Given the description of an element on the screen output the (x, y) to click on. 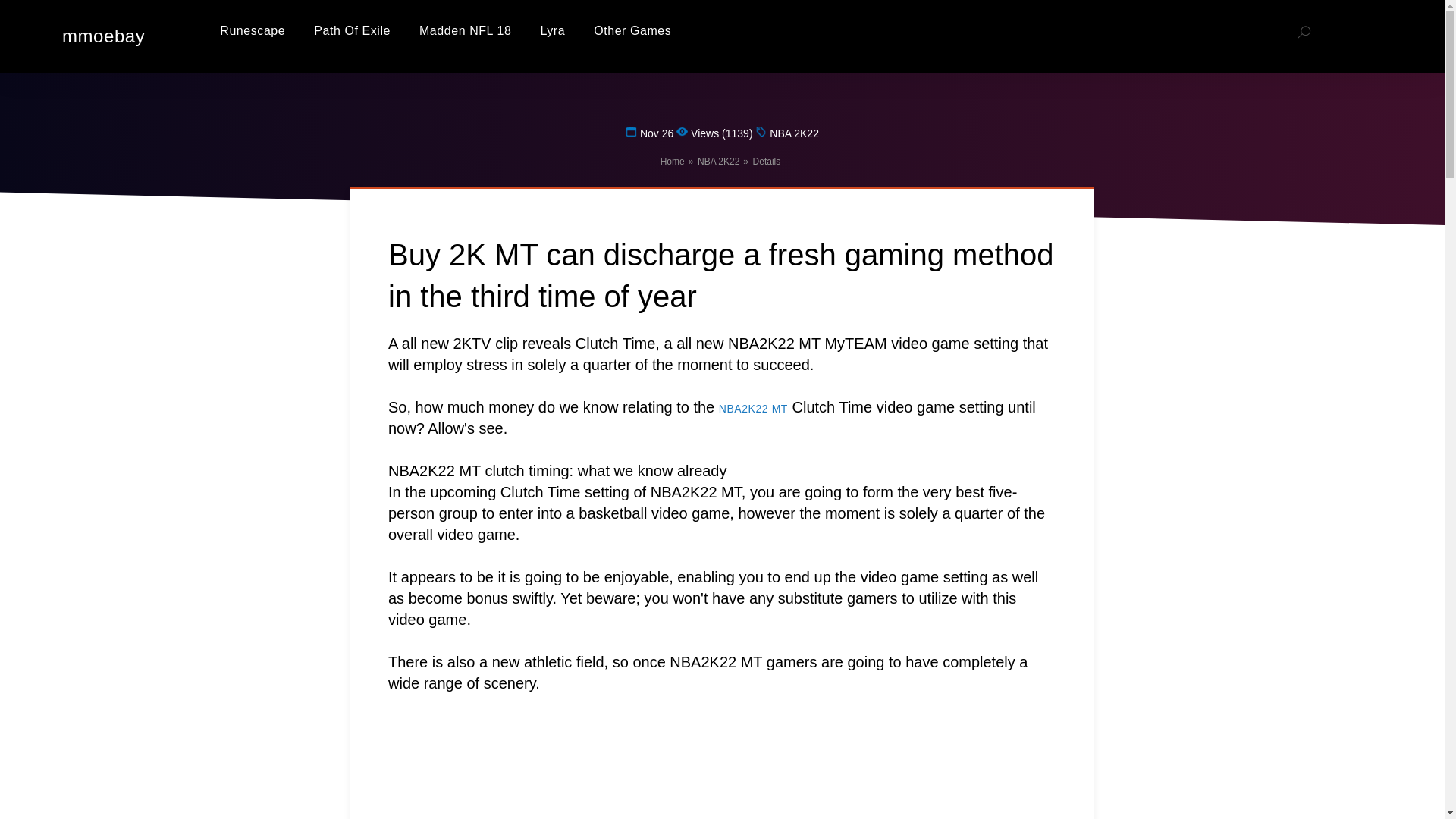
Other Games (632, 30)
Runescape (252, 30)
NBA2K22 MT (753, 408)
Home (672, 161)
NBA 2K22 (718, 161)
Path Of Exile (352, 30)
Game News (632, 30)
NBA 2K22 (718, 161)
Madden NFL 18 (465, 30)
Lyra (552, 30)
mmoebay (95, 36)
